Given the description of an element on the screen output the (x, y) to click on. 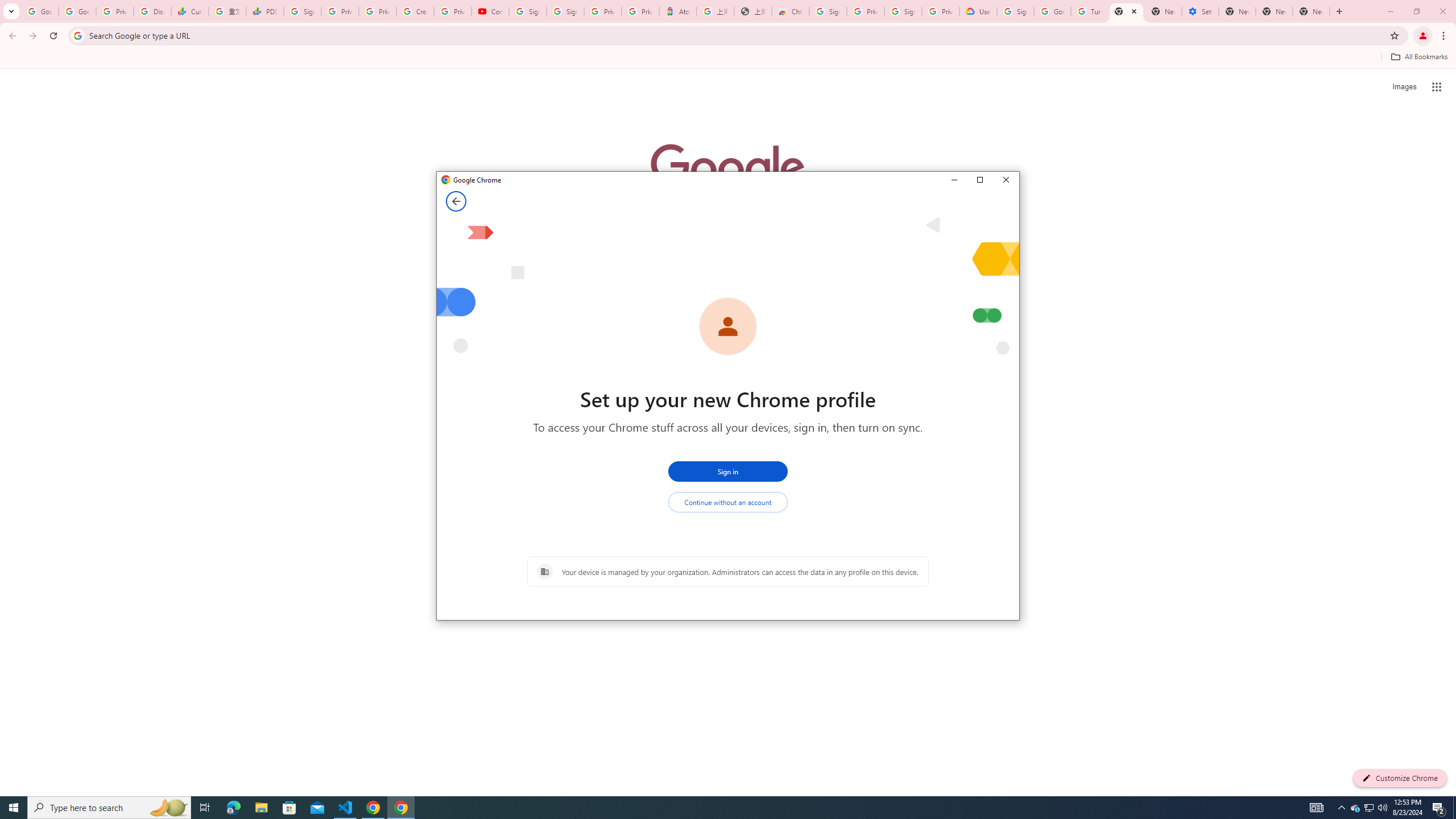
Running applications (717, 807)
New Tab (1311, 11)
Show desktop (1454, 807)
Create your Google Account (415, 11)
Chrome Web Store - Color themes by Chrome (790, 11)
Currencies - Google Finance (1355, 807)
New Tab (189, 11)
